Given the description of an element on the screen output the (x, y) to click on. 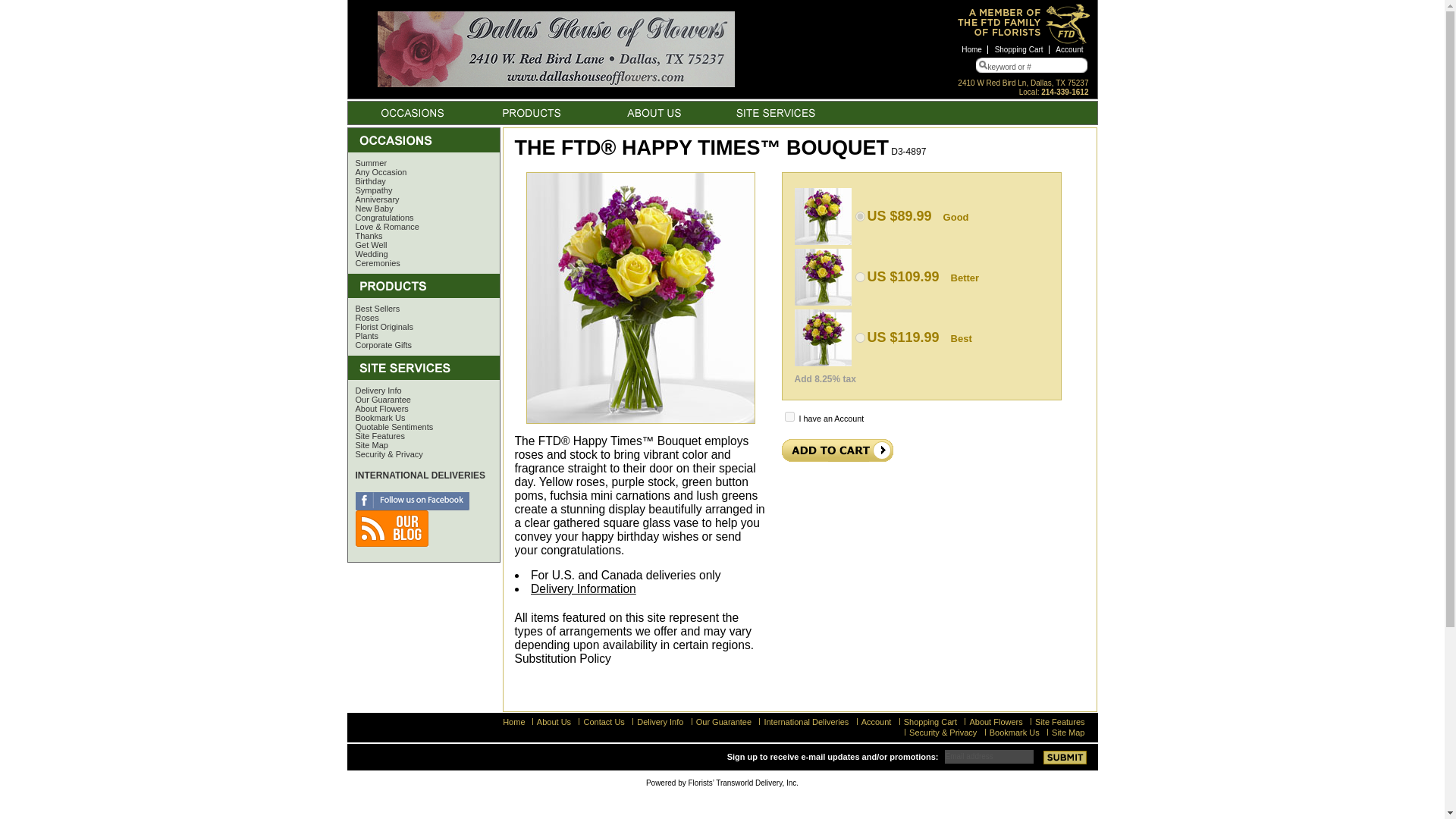
Shopping Cart (1019, 49)
Account (1069, 49)
Home (972, 49)
Yes (788, 416)
Email address (988, 755)
Summer (367, 162)
